Given the description of an element on the screen output the (x, y) to click on. 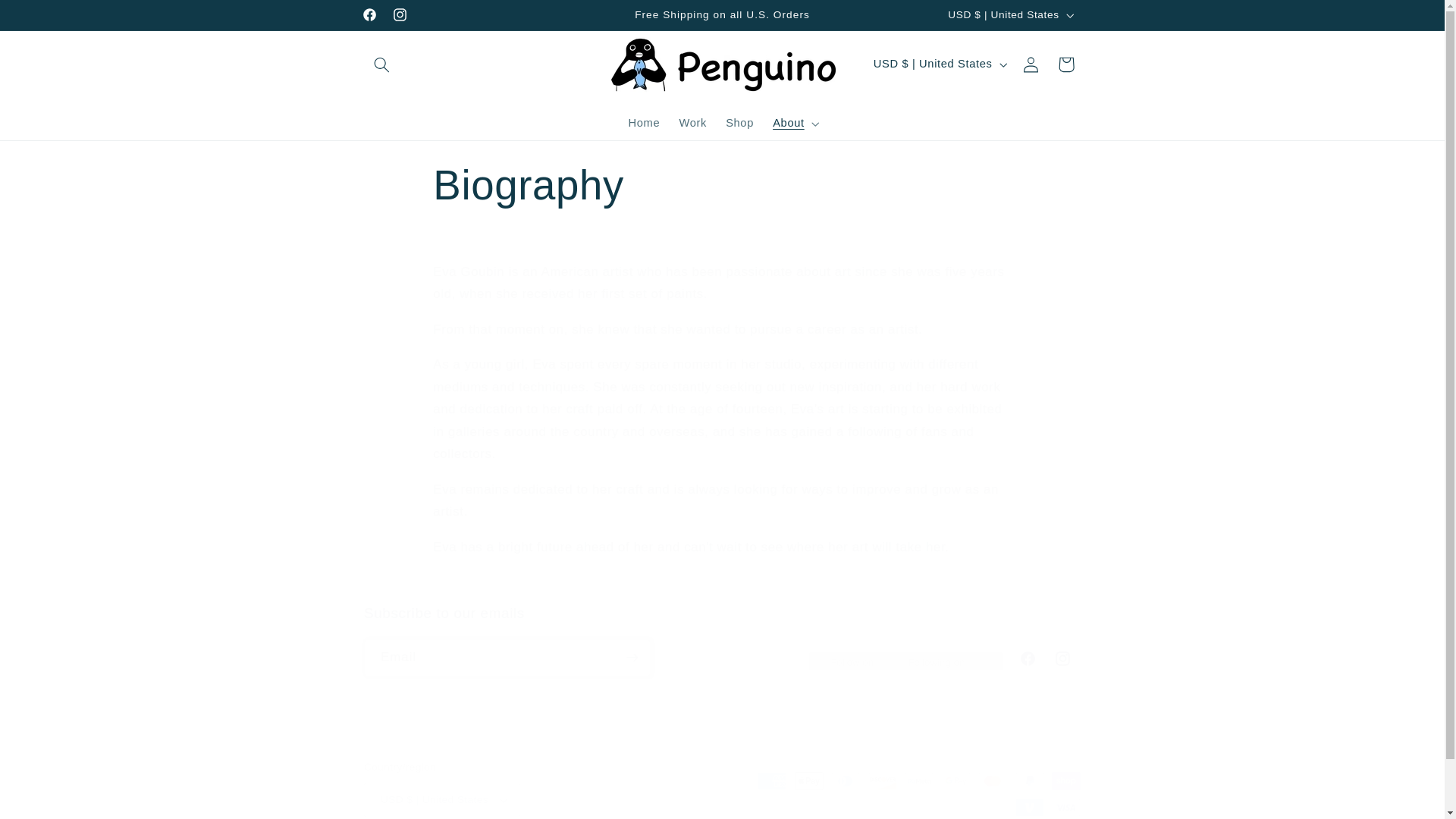
Instagram (1062, 658)
Shop (739, 123)
Work (692, 123)
Instagram (399, 15)
Home (643, 123)
Skip to content (48, 18)
Cart (722, 640)
Biography (1065, 63)
